Given the description of an element on the screen output the (x, y) to click on. 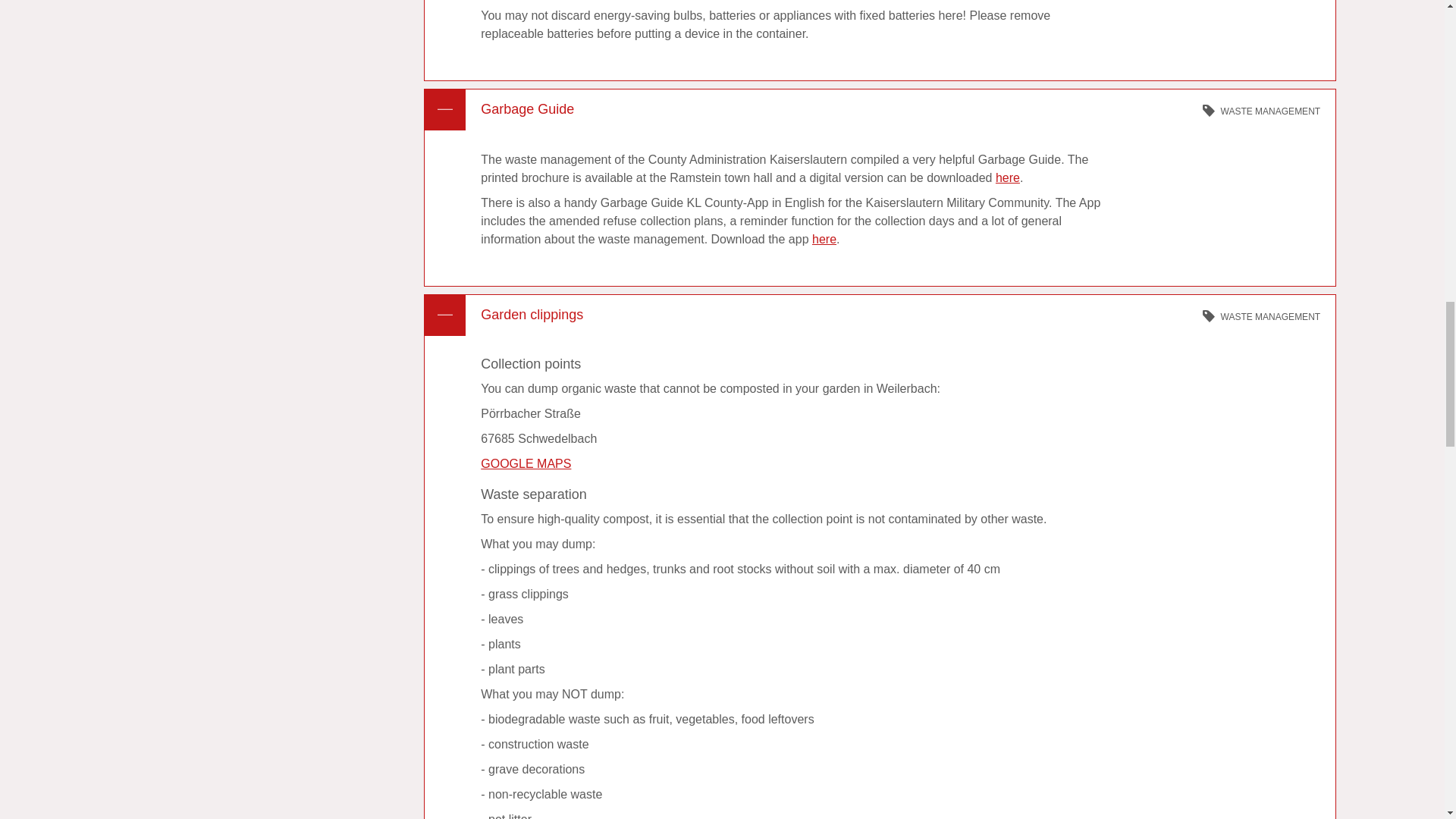
here (823, 238)
here (1007, 177)
GOOGLE MAPS (525, 463)
Opens external link in new window (1007, 177)
Opens external link in new window (823, 238)
